Given the description of an element on the screen output the (x, y) to click on. 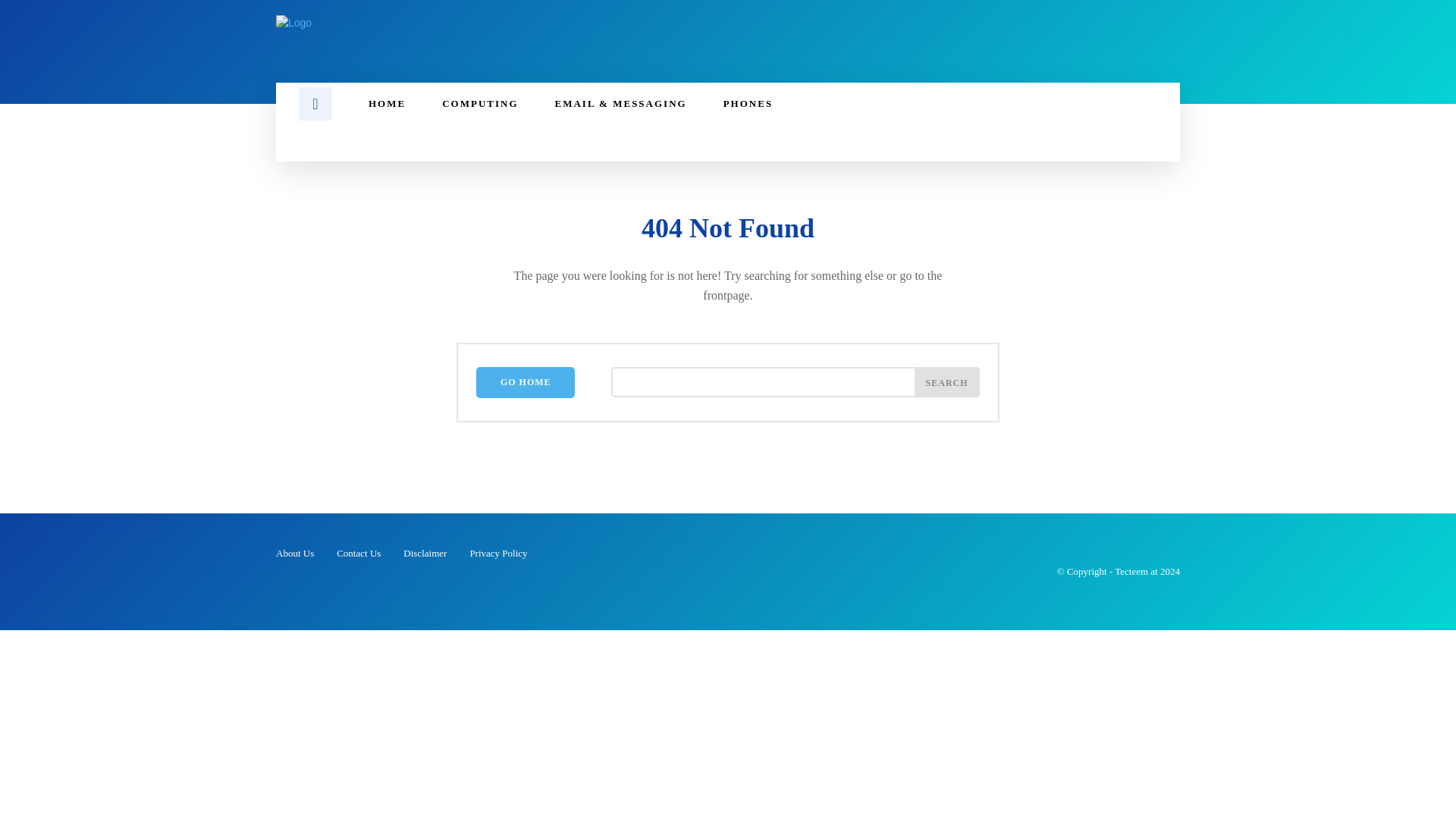
Disclaimer (424, 553)
PHONES (747, 103)
COMPUTING (479, 103)
HOME (386, 103)
SEARCH (946, 381)
Contact Us (358, 553)
Privacy Policy (497, 553)
Go home (525, 382)
About Us (295, 553)
GO HOME (525, 382)
